Given the description of an element on the screen output the (x, y) to click on. 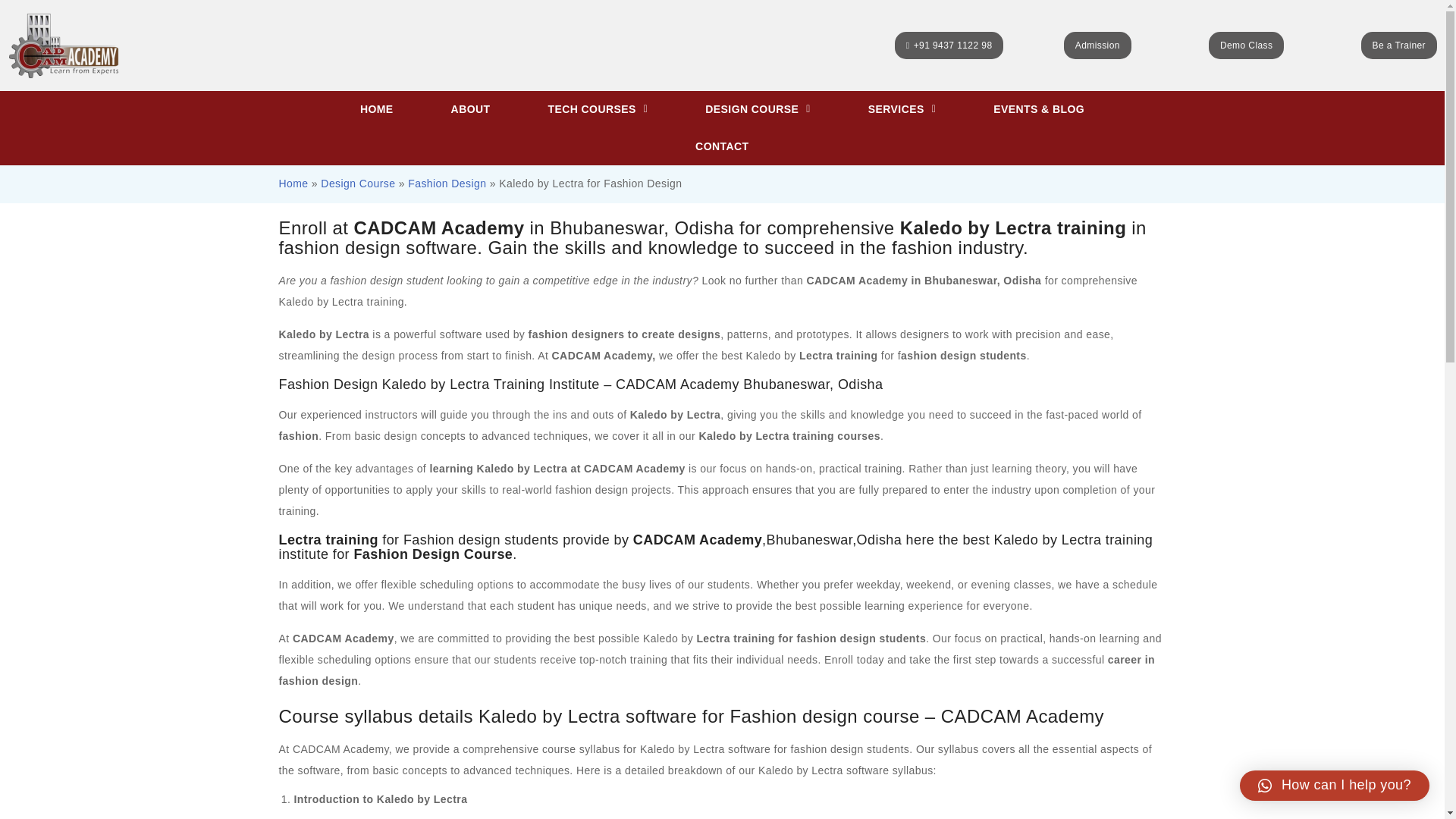
TECH COURSES (597, 108)
Admission (1097, 44)
logo (63, 45)
Be a Trainer (1399, 44)
ABOUT (470, 108)
Demo Class (1246, 44)
HOME (376, 108)
